Given the description of an element on the screen output the (x, y) to click on. 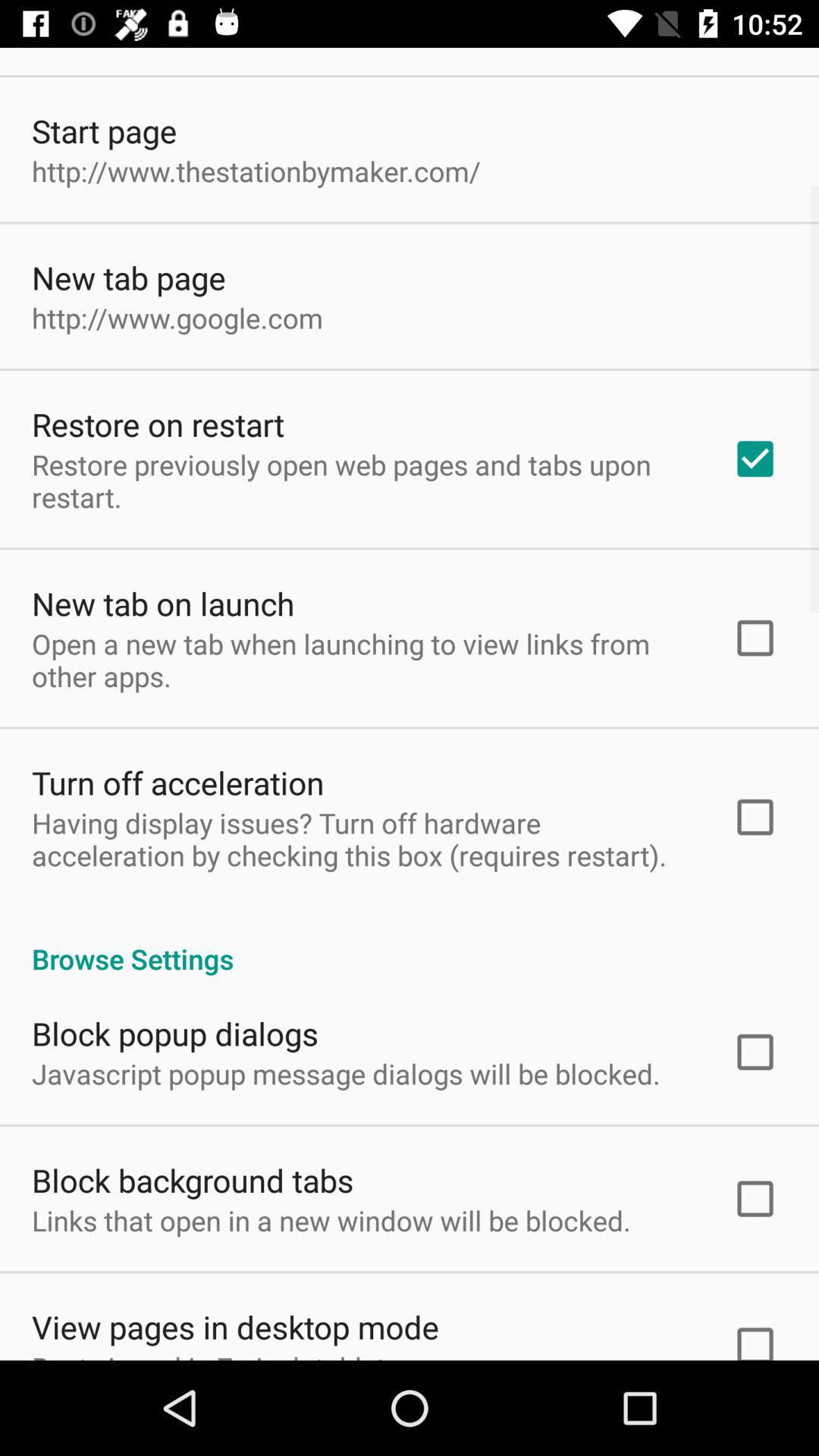
jump until the block background tabs item (192, 1179)
